Given the description of an element on the screen output the (x, y) to click on. 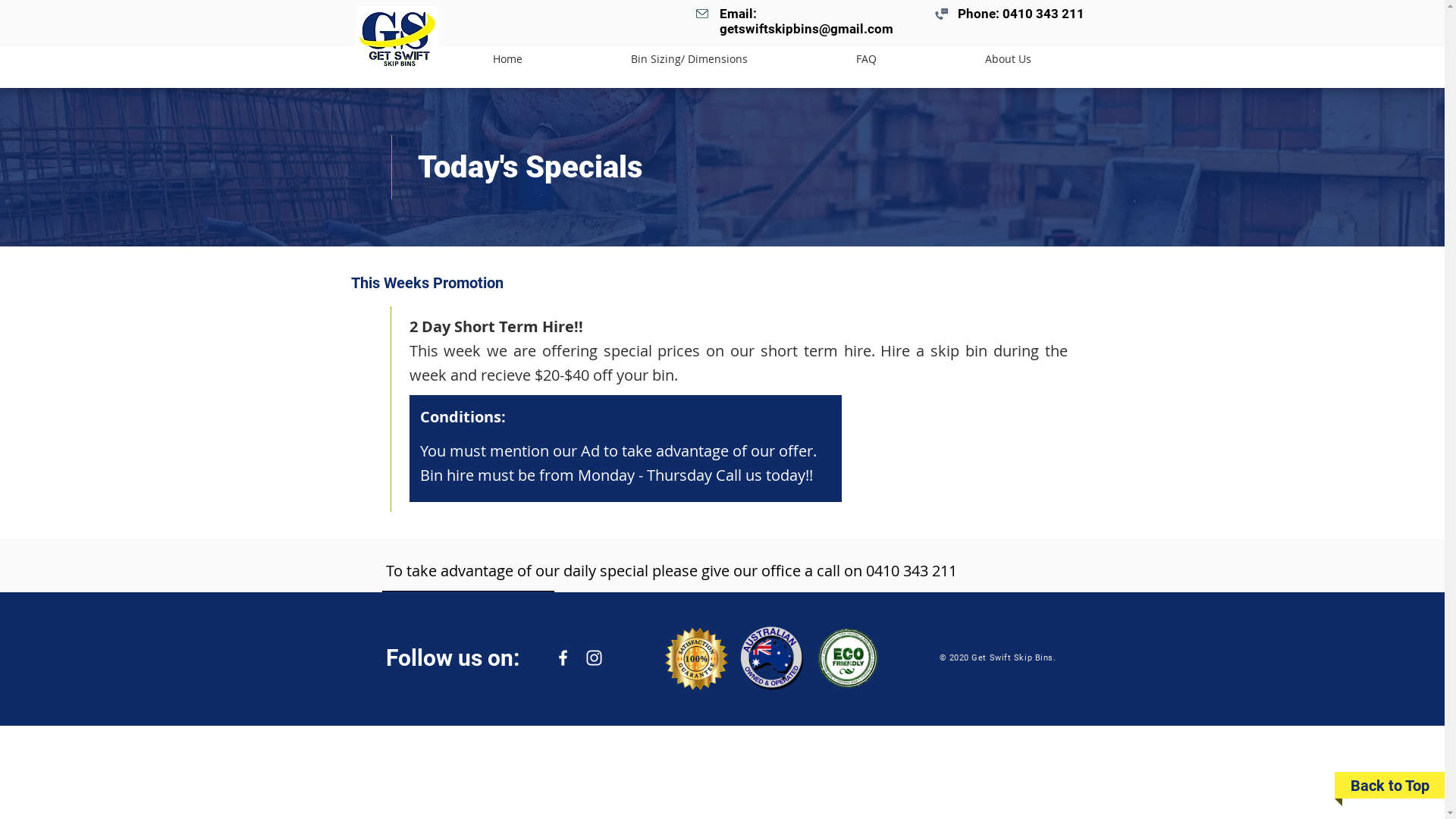
About Us Element type: text (1008, 58)
Home Element type: text (507, 58)
getswiftskipbins@gmail.com Element type: text (805, 28)
Bin Sizing/ Dimensions Element type: text (688, 58)
Call Us Now!!! Element type: text (468, 604)
FAQ Element type: text (866, 58)
